Given the description of an element on the screen output the (x, y) to click on. 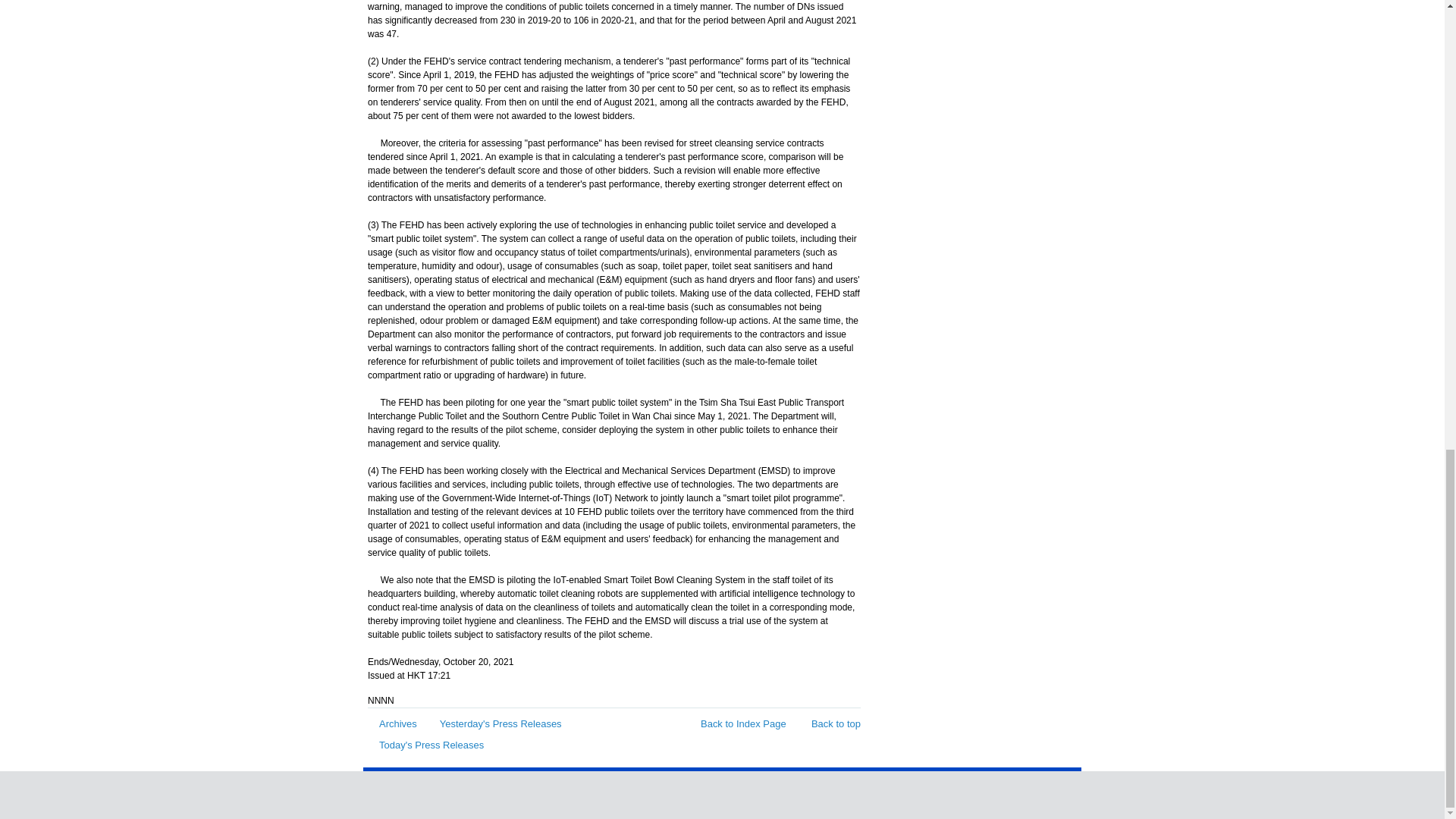
Web Accessibility Recognition Scheme (974, 791)
Archives (392, 723)
Today's Press Releases (425, 745)
Back to Index Page (737, 723)
Back to top (828, 723)
Yesterday's Press Releases (495, 723)
